Given the description of an element on the screen output the (x, y) to click on. 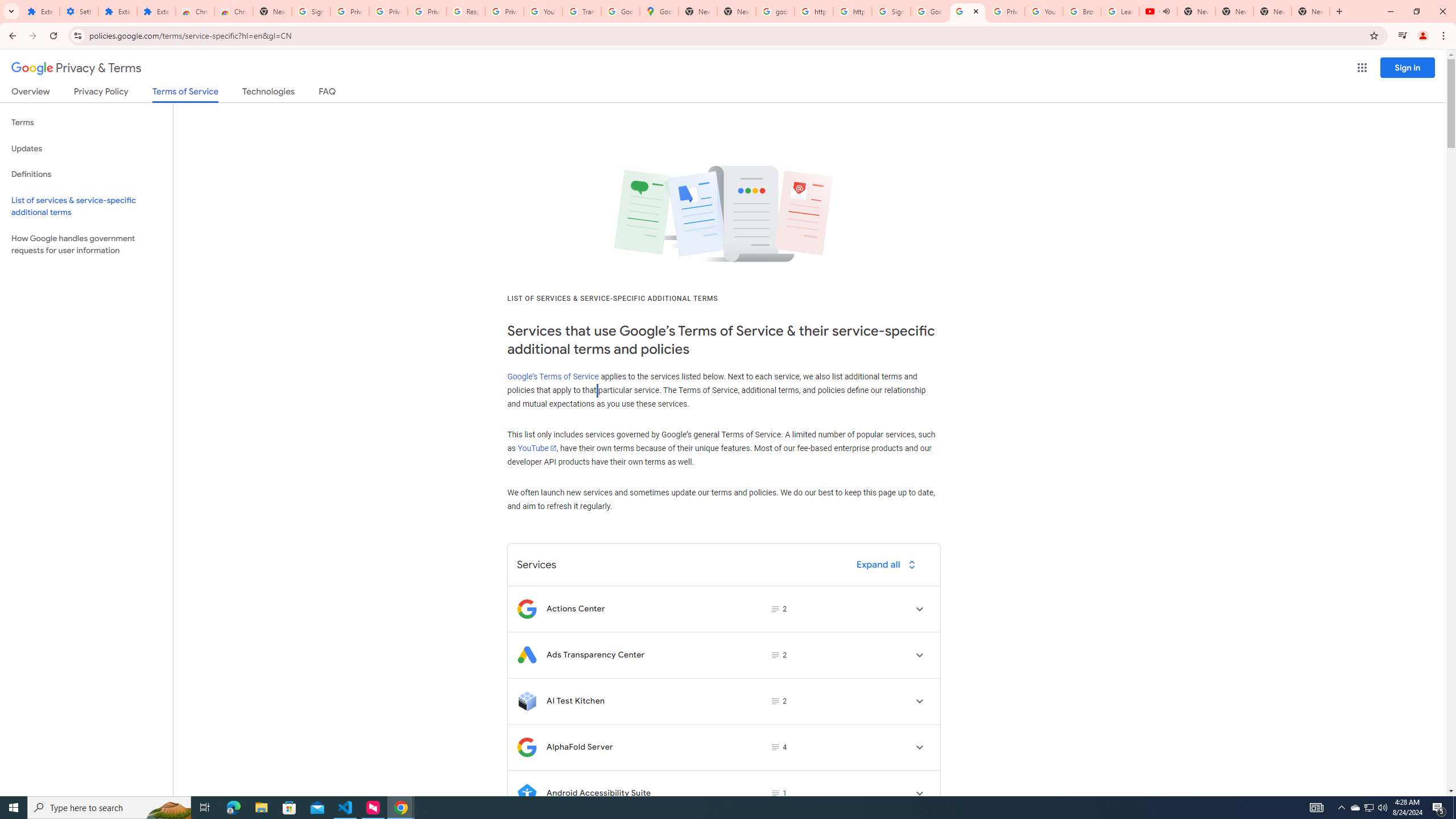
Expand all (888, 564)
Google Maps (659, 11)
Logo for Android Accessibility Suite (526, 792)
https://scholar.google.com/ (813, 11)
